Given the description of an element on the screen output the (x, y) to click on. 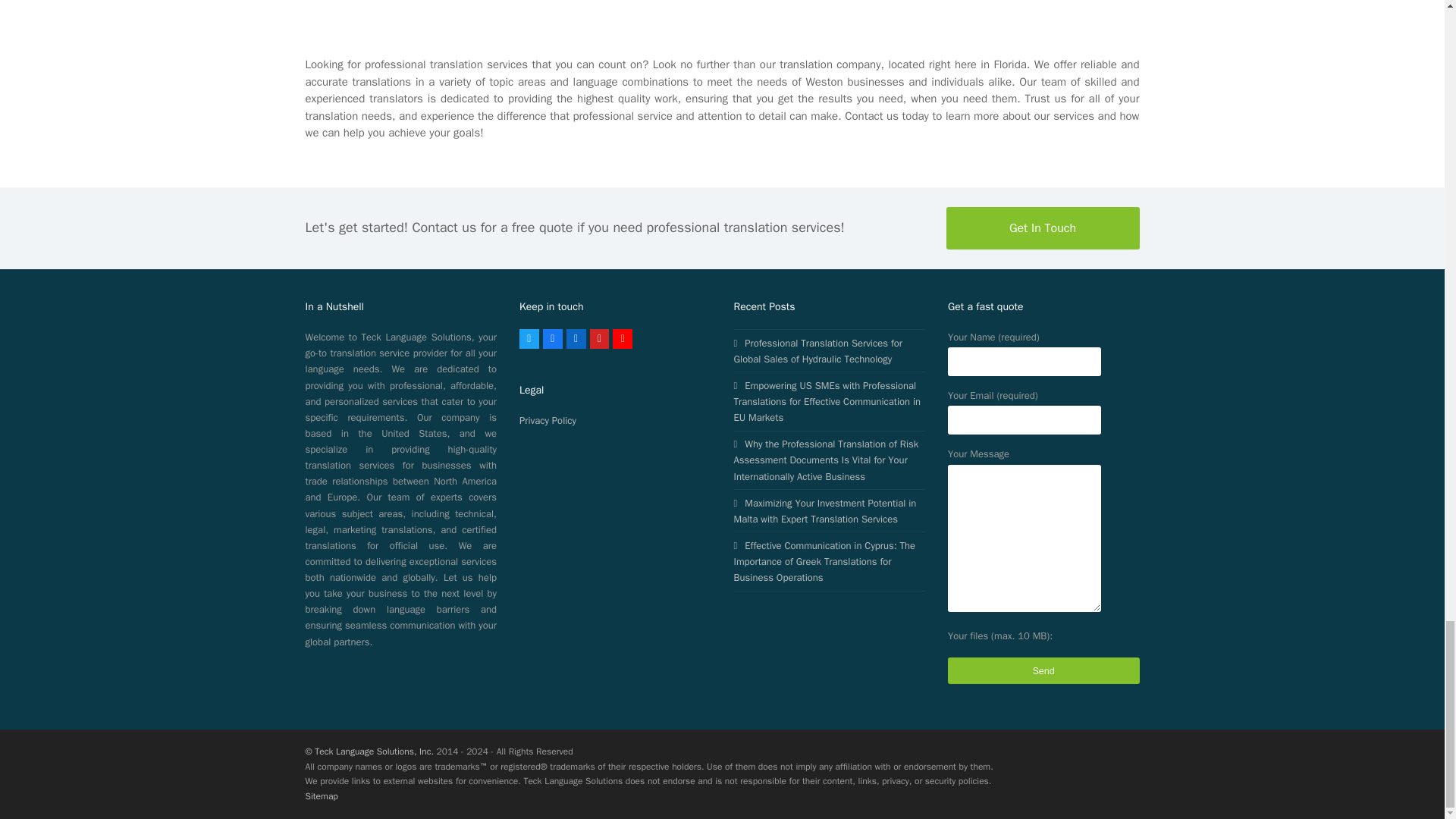
Facebook (552, 338)
YouTube (621, 338)
Twitter (528, 338)
LinkedIn (576, 338)
Send (1043, 670)
Yelp (599, 338)
